Given the description of an element on the screen output the (x, y) to click on. 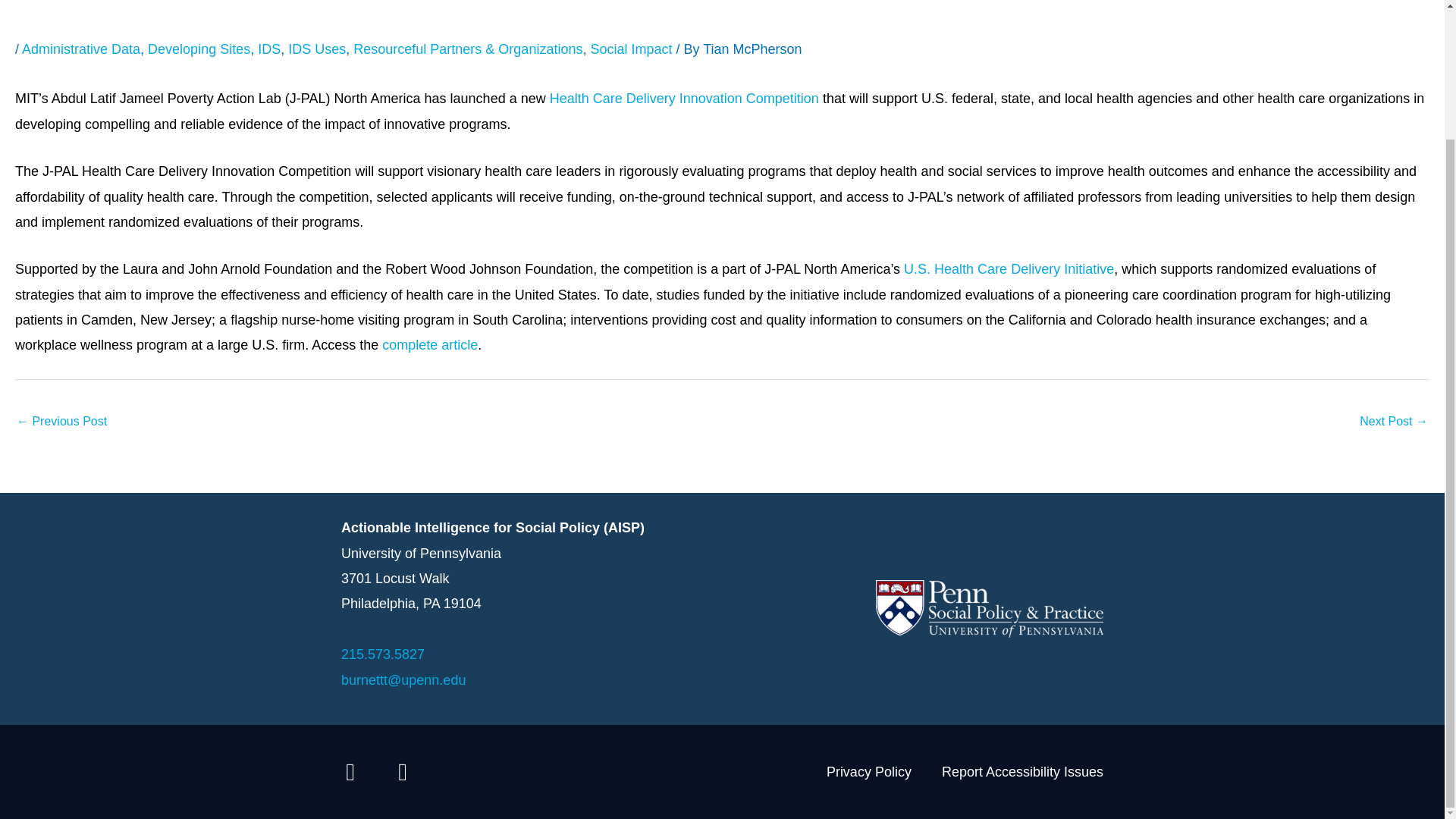
View all posts by Tian McPherson (752, 48)
IDS (269, 48)
Social Impact (630, 48)
CMS Releases Medicare Data for Quality-Based Metrics (1393, 422)
Developing Sites (199, 48)
Administrative Data (80, 48)
IDS Uses (317, 48)
